Given the description of an element on the screen output the (x, y) to click on. 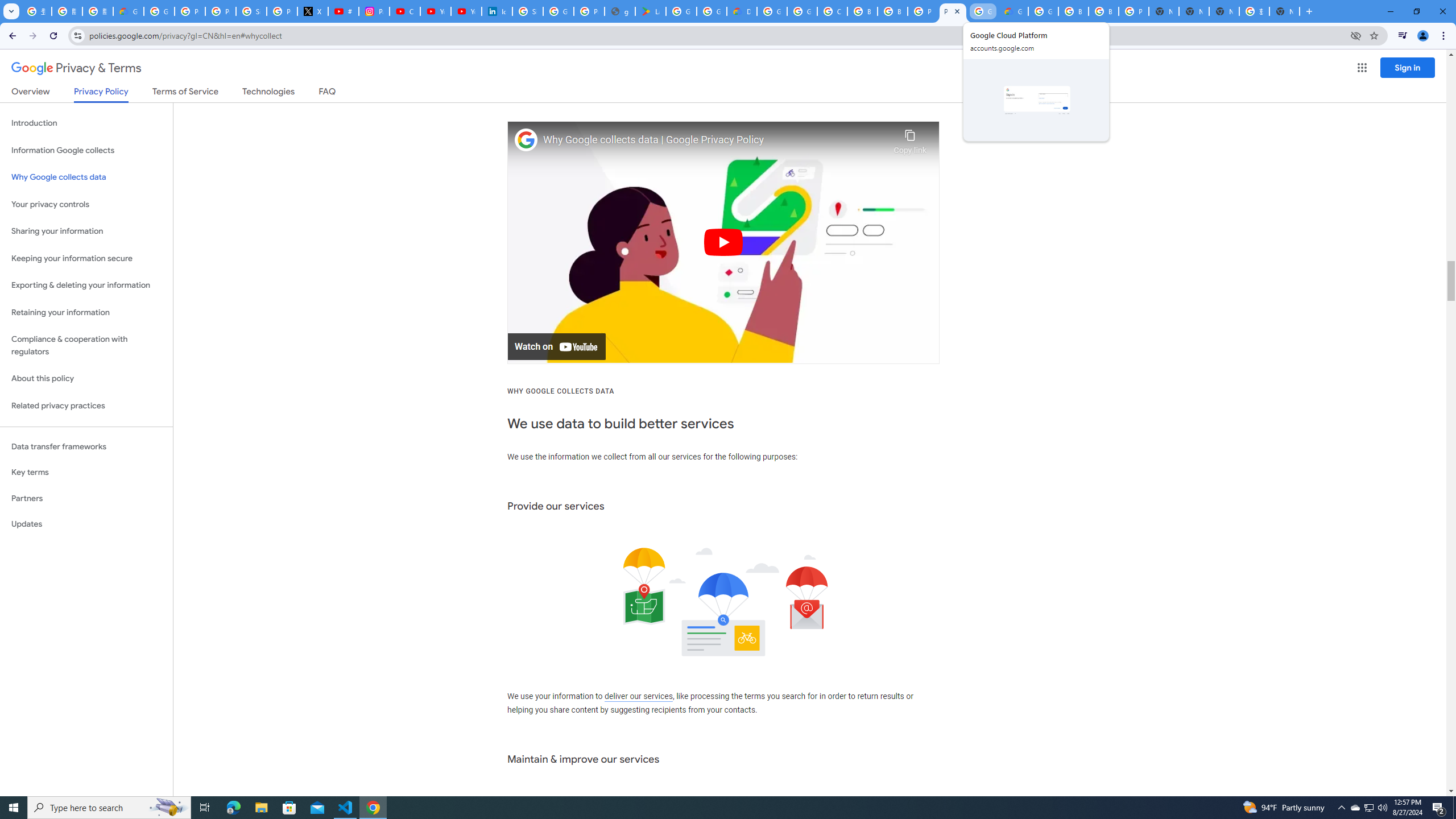
Google Workspace - Specific Terms (711, 11)
X (312, 11)
Third-party cookies blocked (1355, 35)
Identity verification via Persona | LinkedIn Help (496, 11)
Browse Chrome as a guest - Computer - Google Chrome Help (862, 11)
Google Cloud Privacy Notice (127, 11)
Last Shelter: Survival - Apps on Google Play (650, 11)
Photo image of Google (526, 139)
Retaining your information (86, 312)
About this policy (86, 379)
